Given the description of an element on the screen output the (x, y) to click on. 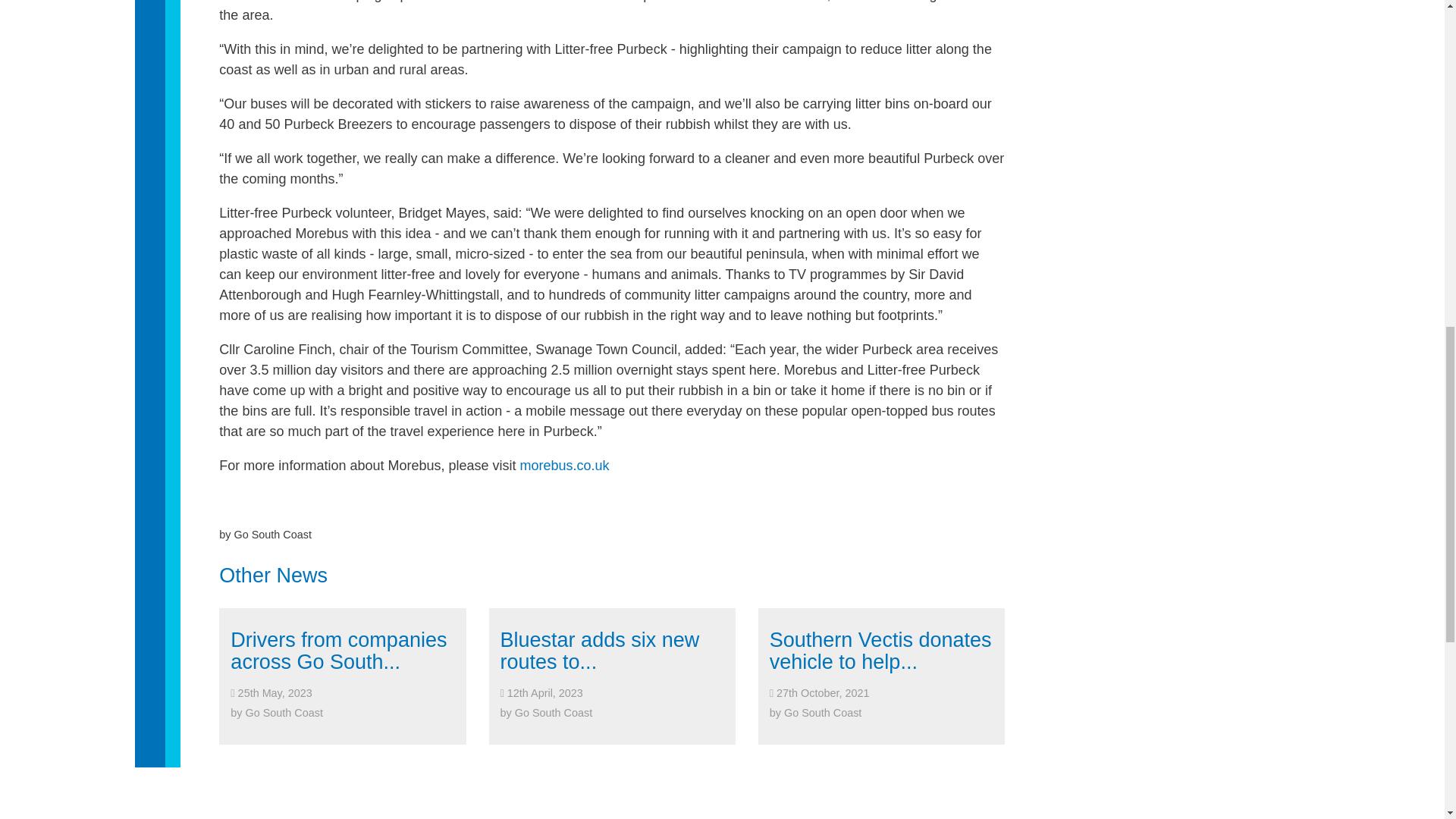
morebus.co.uk (564, 465)
